Given the description of an element on the screen output the (x, y) to click on. 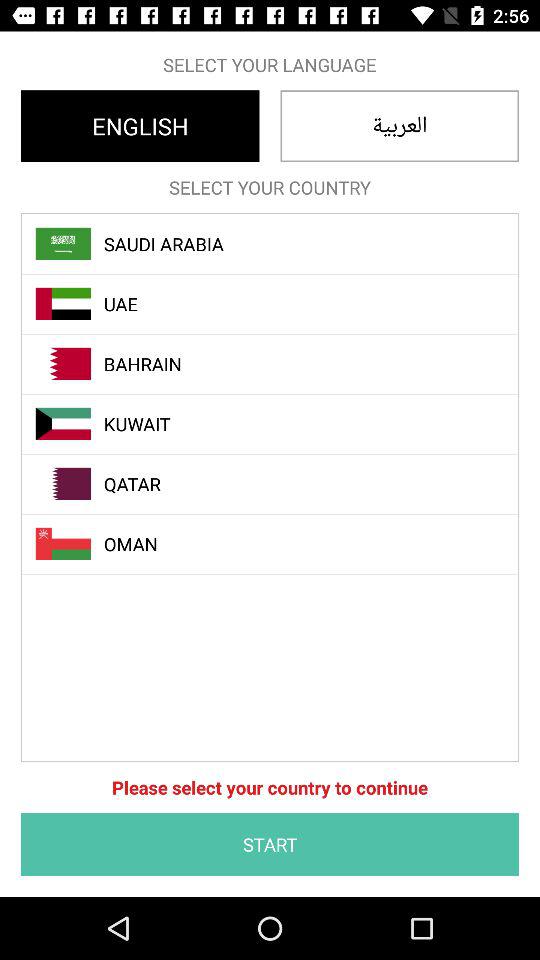
turn off icon below the bahrain item (281, 423)
